Given the description of an element on the screen output the (x, y) to click on. 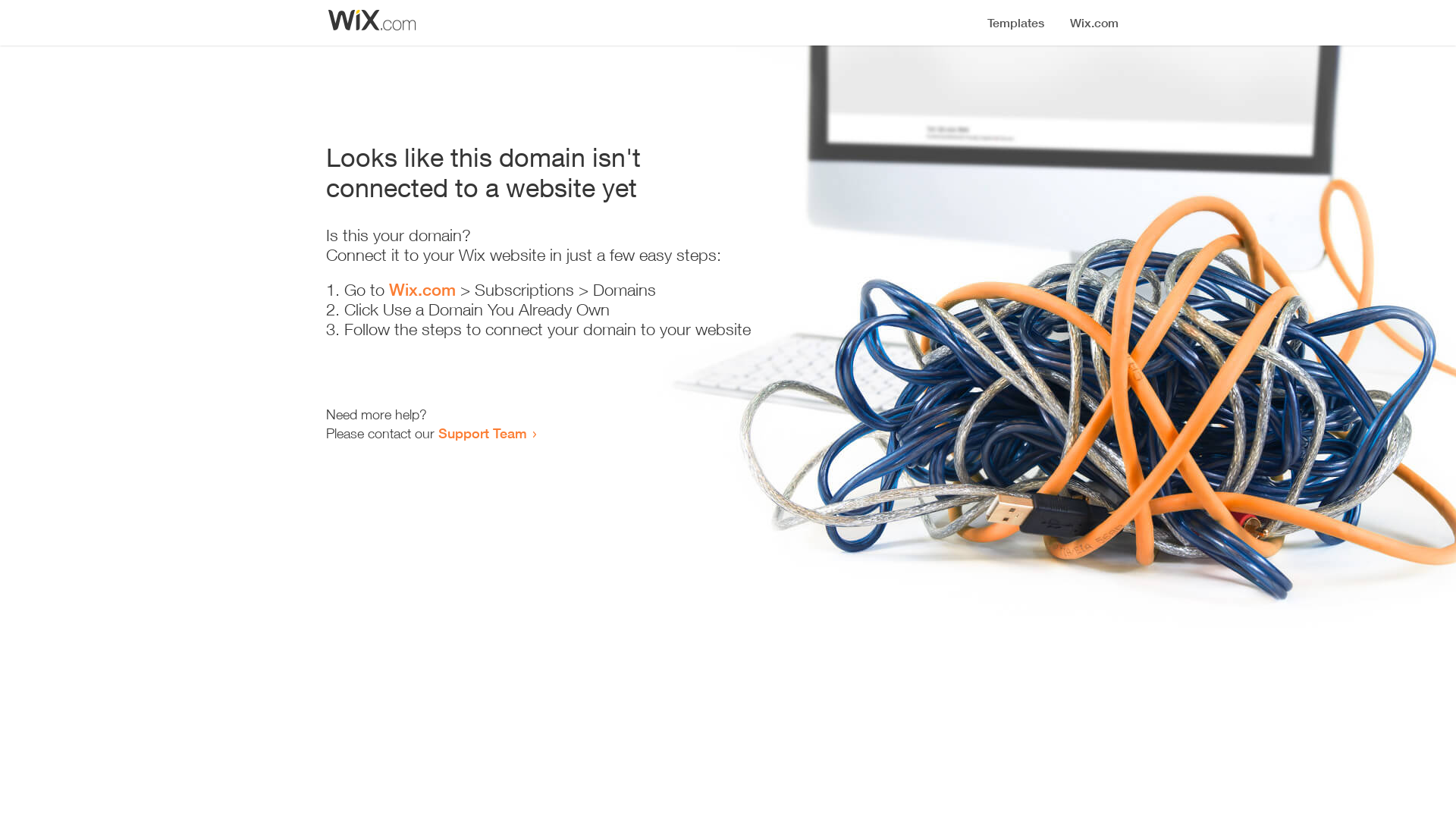
Wix.com Element type: text (422, 289)
Support Team Element type: text (482, 432)
